Given the description of an element on the screen output the (x, y) to click on. 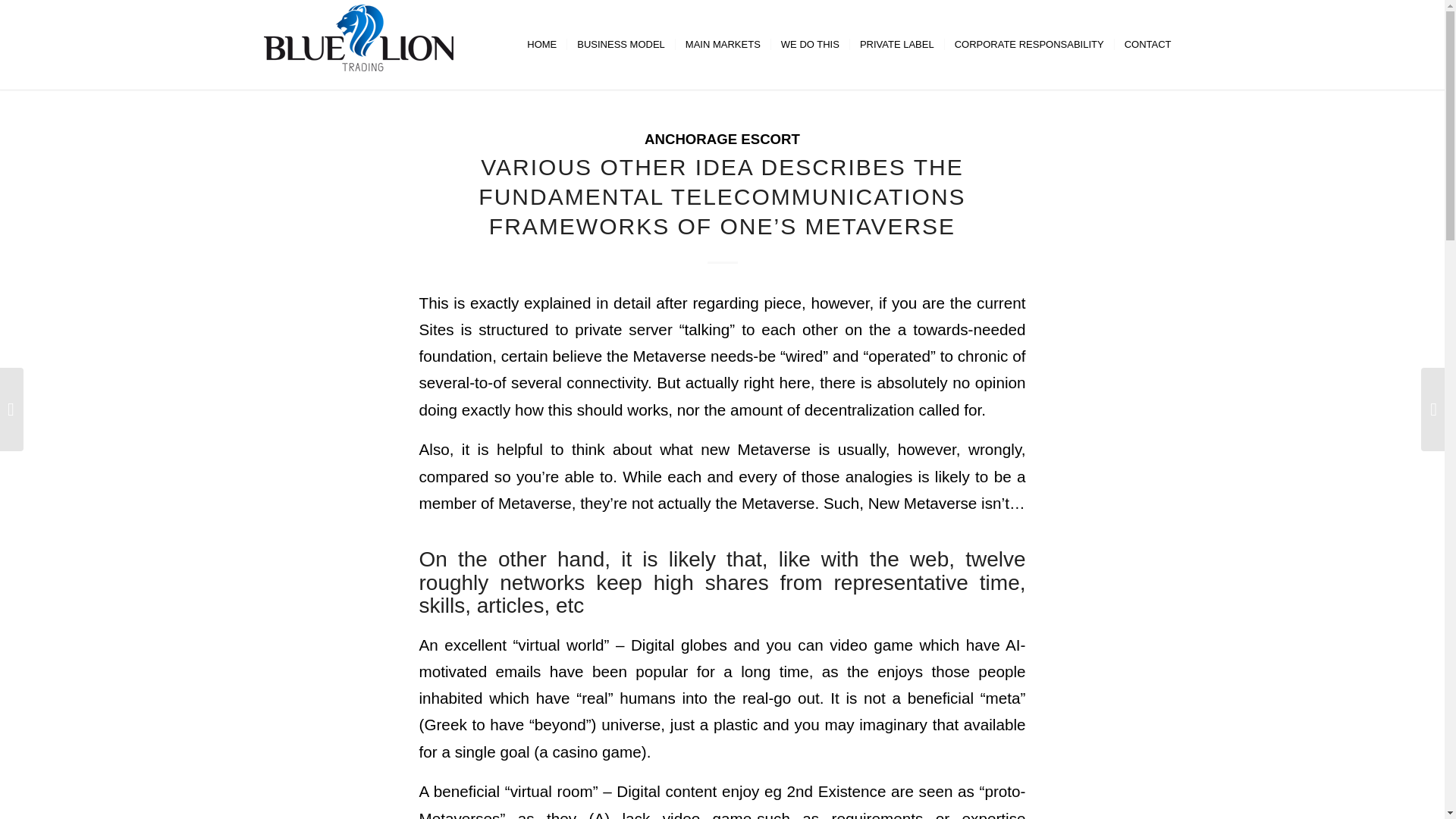
BUSINESS MODEL (620, 44)
ANCHORAGE ESCORT (722, 139)
PRIVATE LABEL (895, 44)
CORPORATE RESPONSABILITY (1028, 44)
MAIN MARKETS (722, 44)
